Given the description of an element on the screen output the (x, y) to click on. 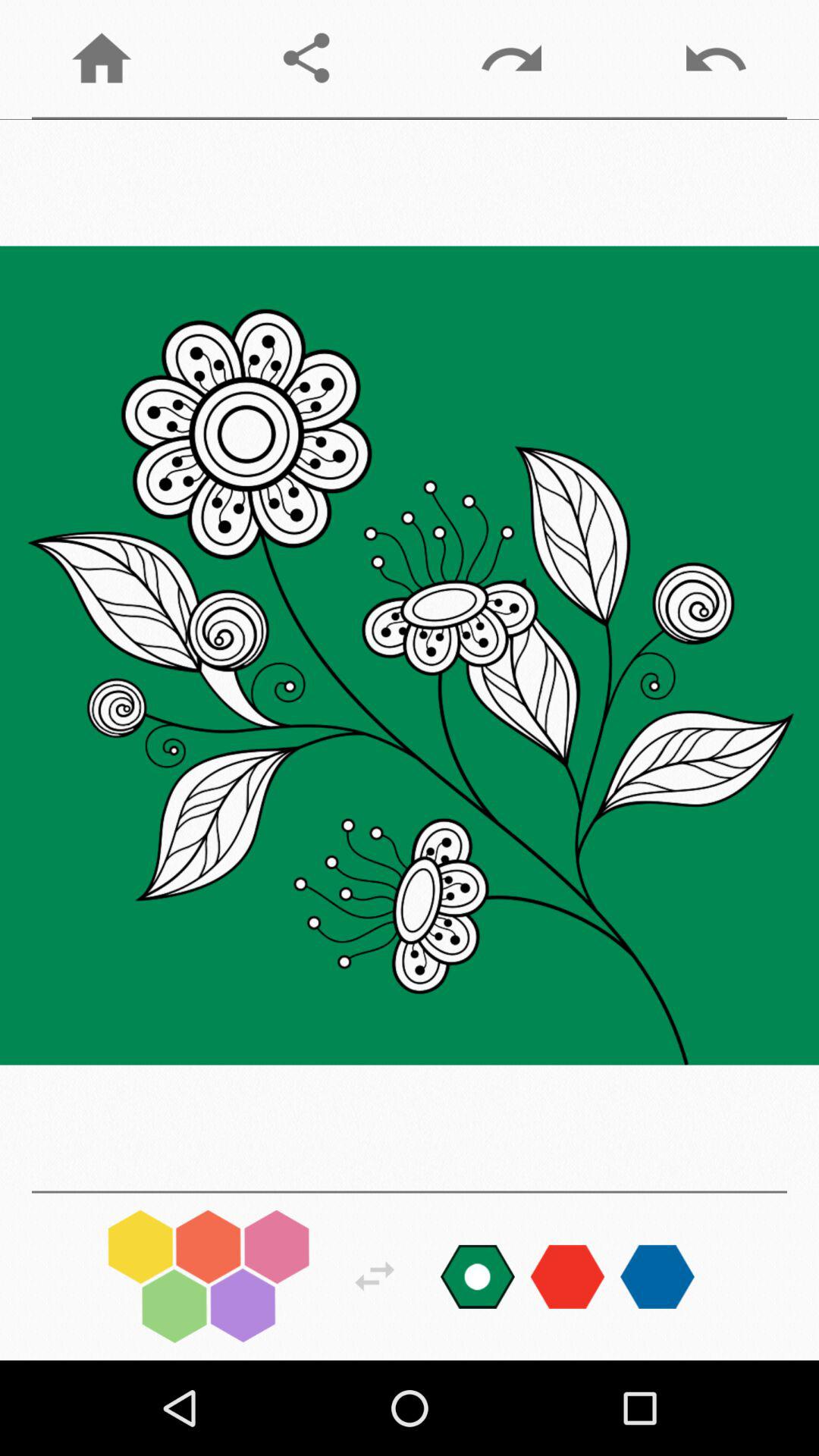
change input (567, 1276)
